Given the description of an element on the screen output the (x, y) to click on. 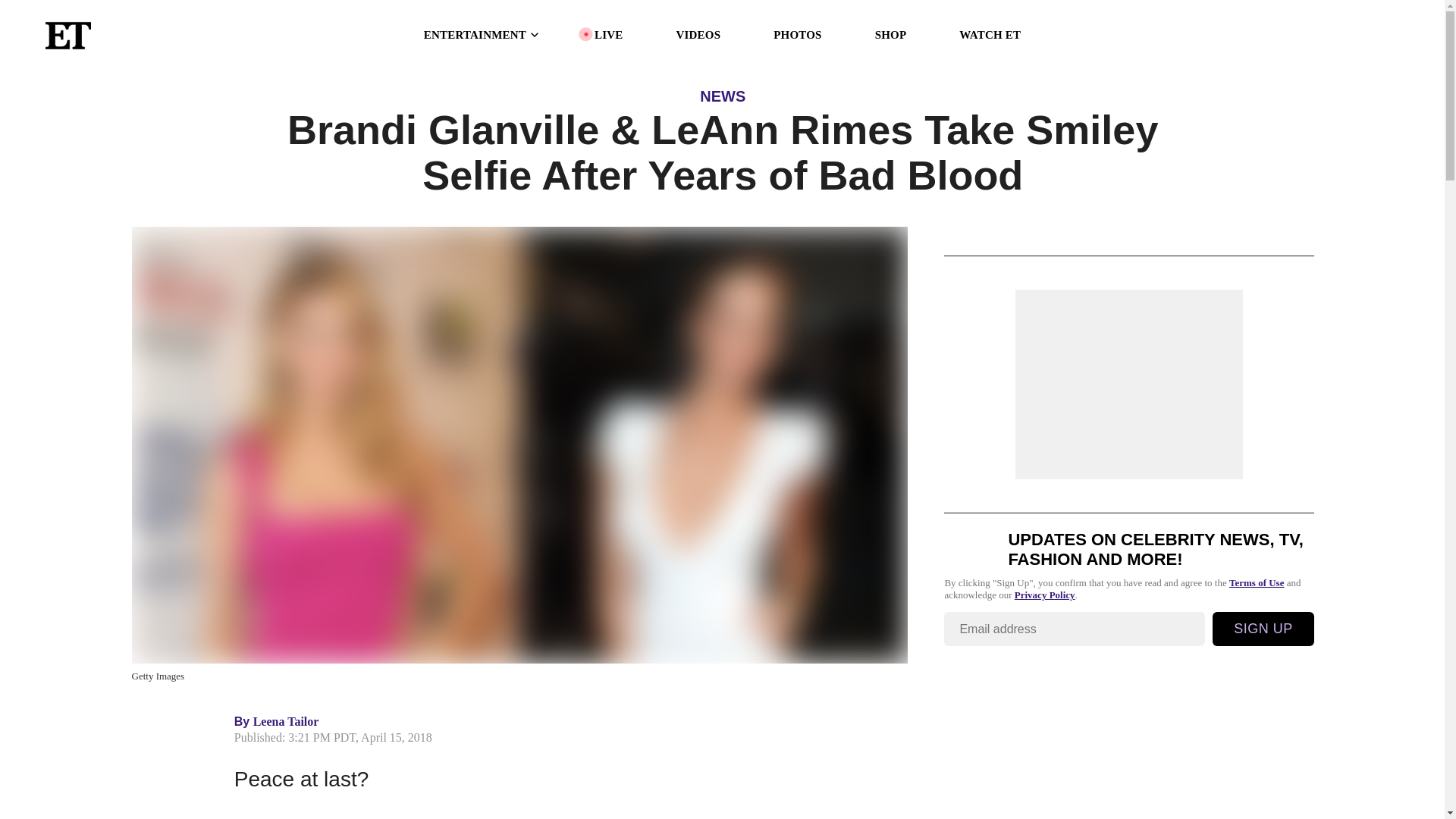
Privacy Policy (1044, 594)
Terms of Use (1256, 582)
PHOTOS (797, 34)
ENTERTAINMENT (482, 34)
WATCH ET (989, 34)
NEWS (722, 95)
VIDEOS (697, 34)
SHOP (891, 34)
Leena Tailor (285, 721)
LIVE (608, 34)
